Given the description of an element on the screen output the (x, y) to click on. 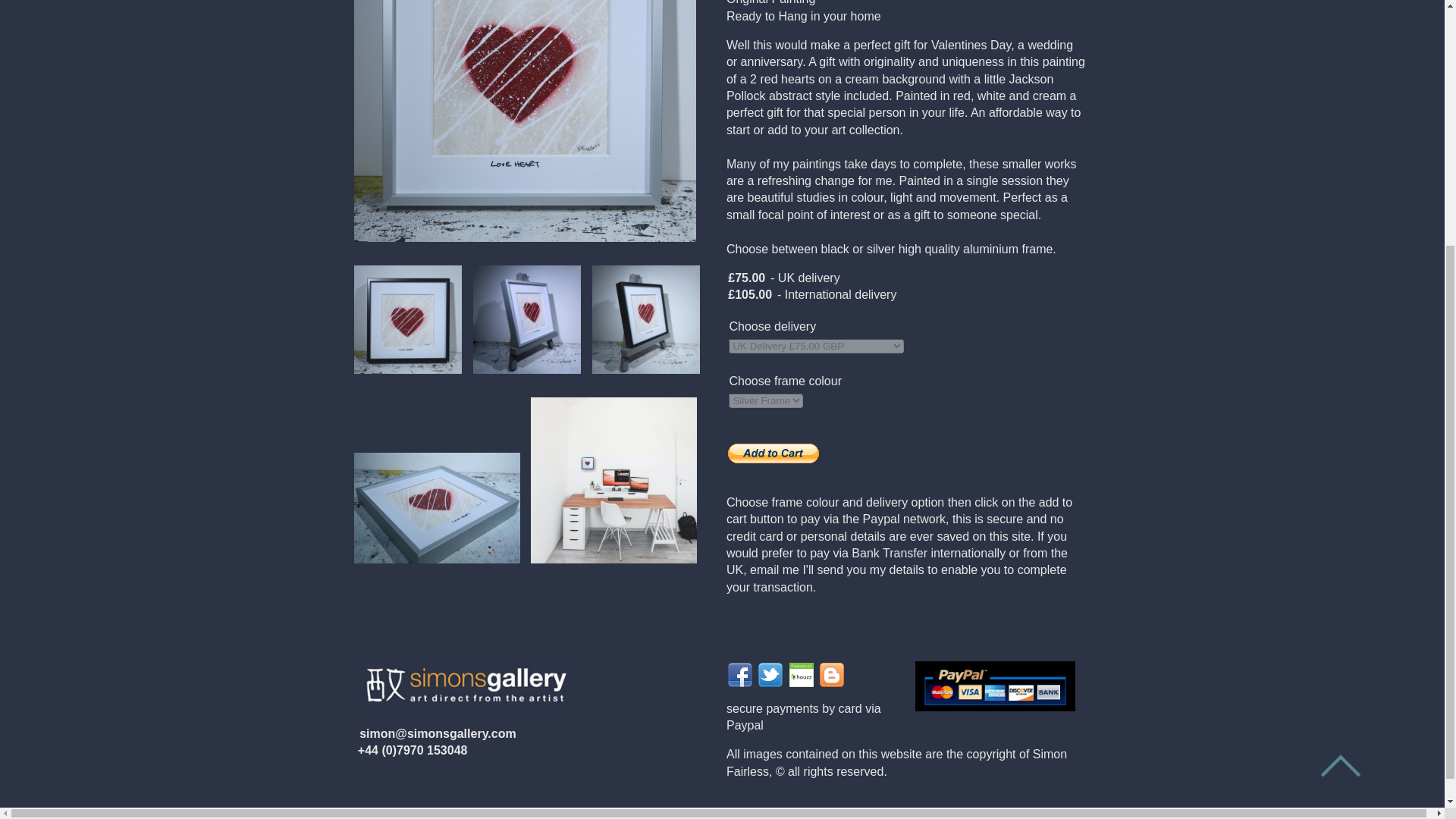
Art Blog (831, 673)
facebook (740, 673)
twitter (770, 673)
Featured on Houzz (801, 673)
